Given the description of an element on the screen output the (x, y) to click on. 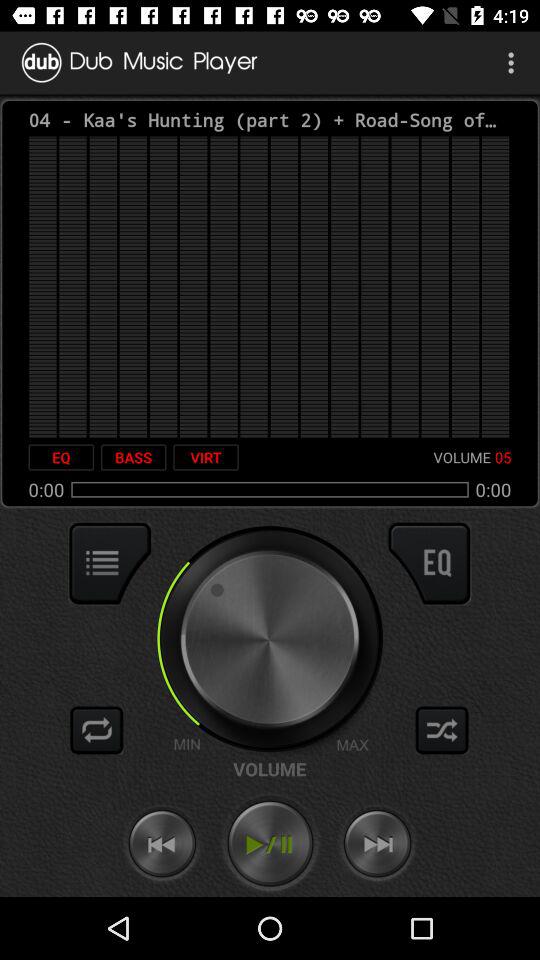
play or pause option (269, 844)
